Given the description of an element on the screen output the (x, y) to click on. 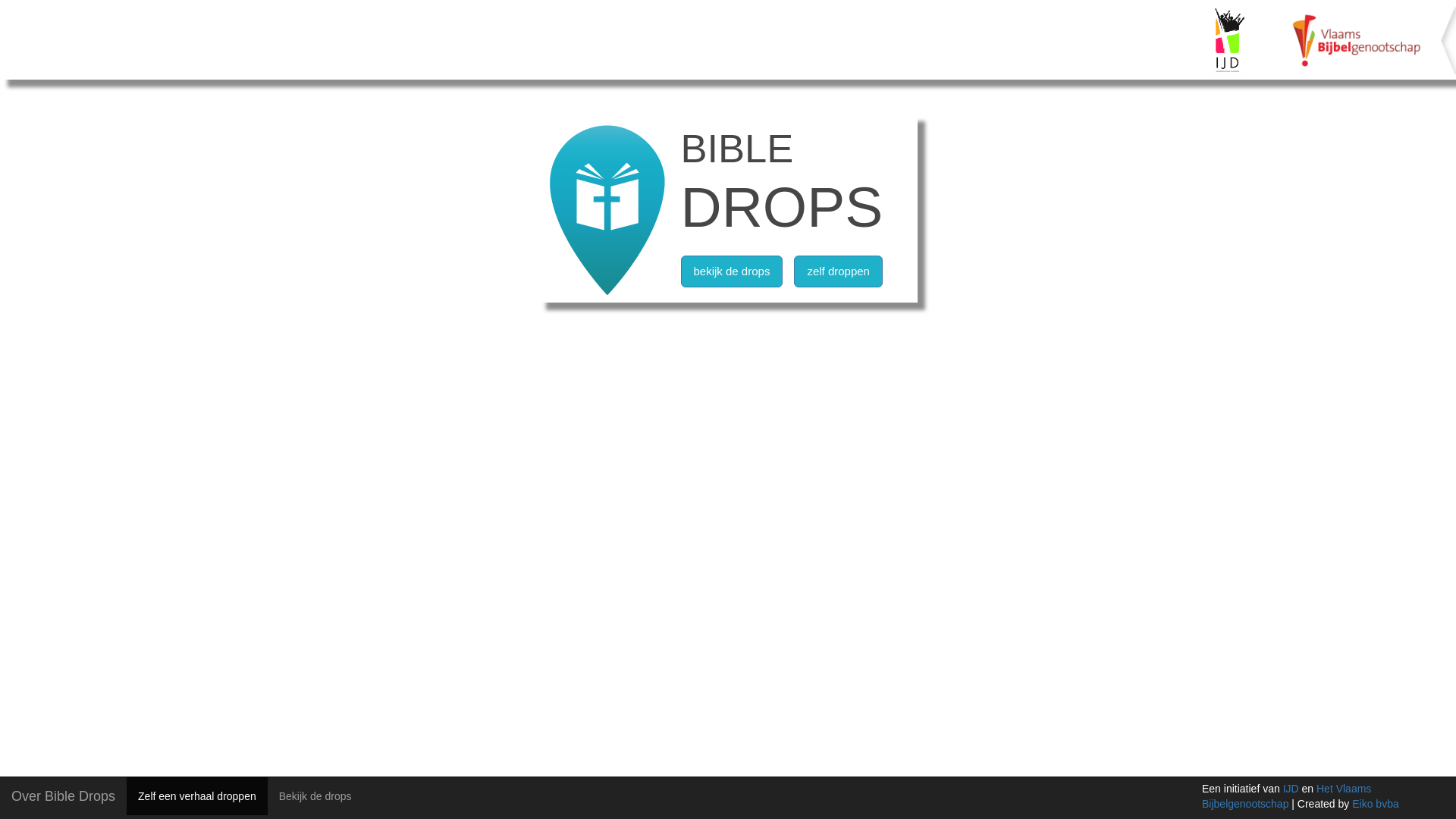
Het Vlaams Bijbelgenootschap Element type: text (1286, 795)
Zelf een verhaal droppen Element type: text (196, 796)
Over Bible Drops Element type: text (63, 796)
zelf droppen Element type: text (837, 271)
IJD Element type: text (1291, 788)
bekijk de drops Element type: text (731, 271)
Bekijk de drops Element type: text (315, 796)
Eiko bvba Element type: text (1375, 803)
